Given the description of an element on the screen output the (x, y) to click on. 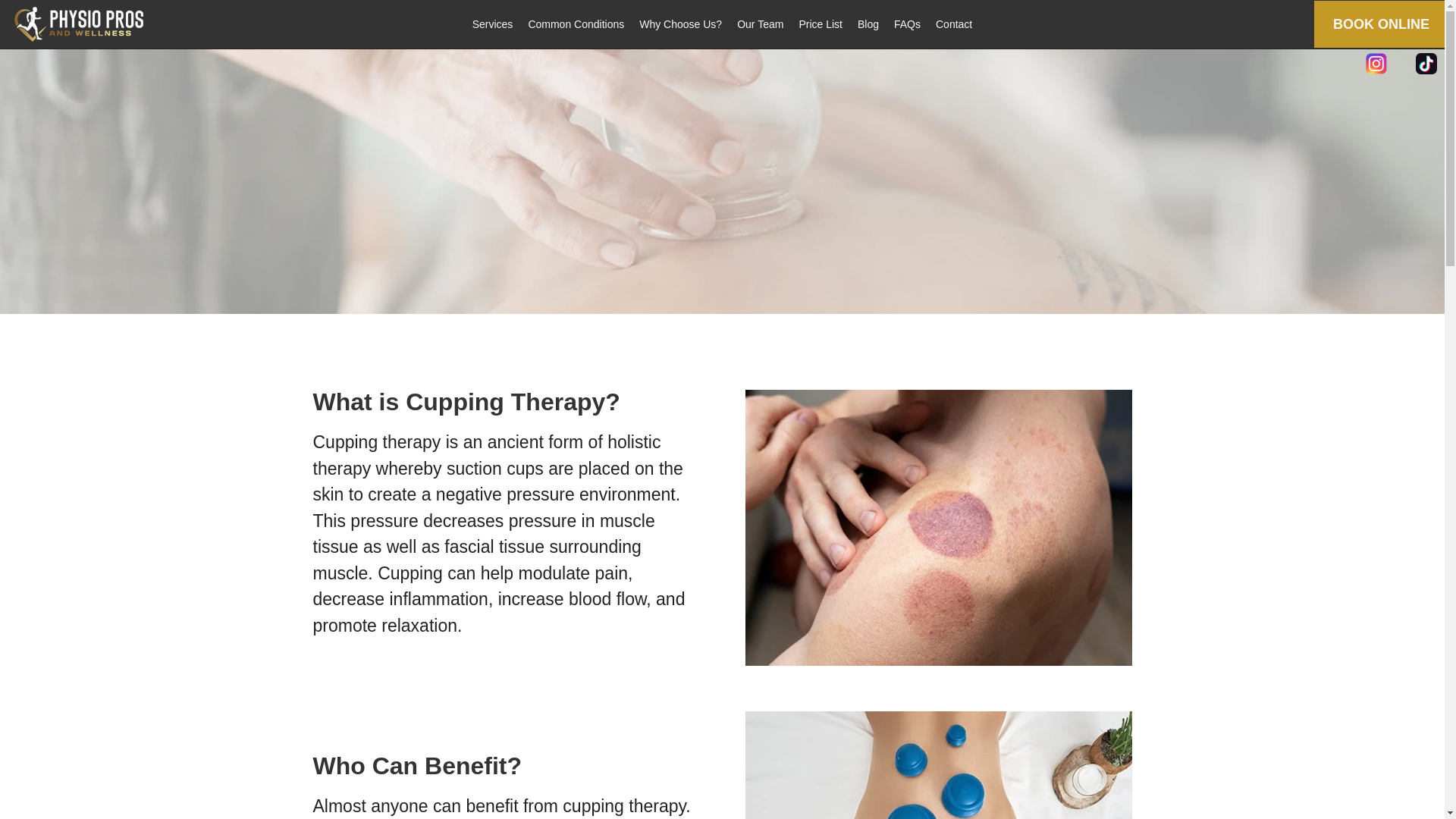
Cupping Therapy 8 (937, 765)
Common Conditions (575, 24)
Why Choose Us? (680, 24)
Services (492, 24)
Price List (820, 24)
Cupping Therapy 7 (937, 527)
Our Team (759, 24)
